Given the description of an element on the screen output the (x, y) to click on. 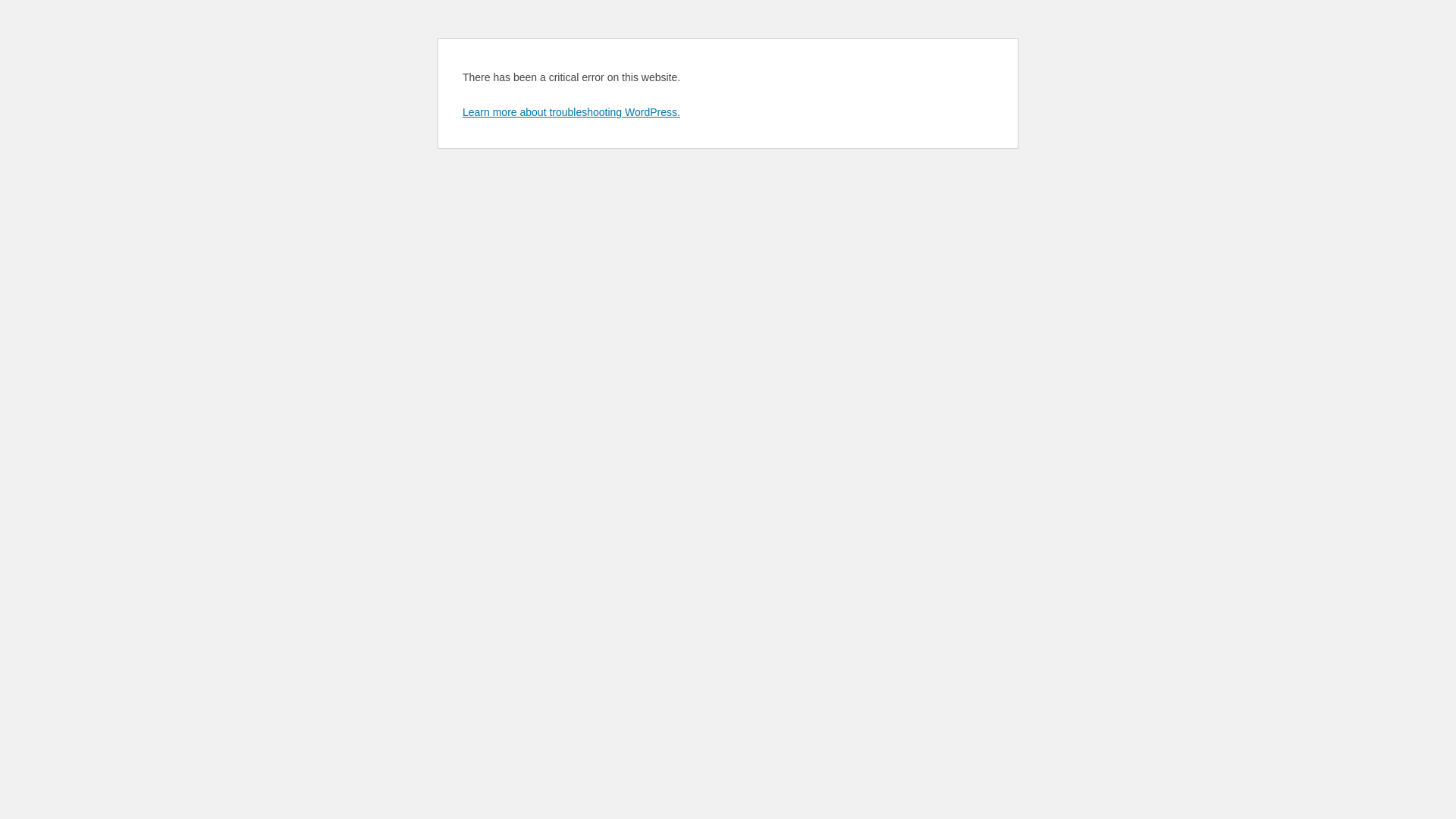
Learn more about troubleshooting WordPress. Element type: text (571, 112)
